Given the description of an element on the screen output the (x, y) to click on. 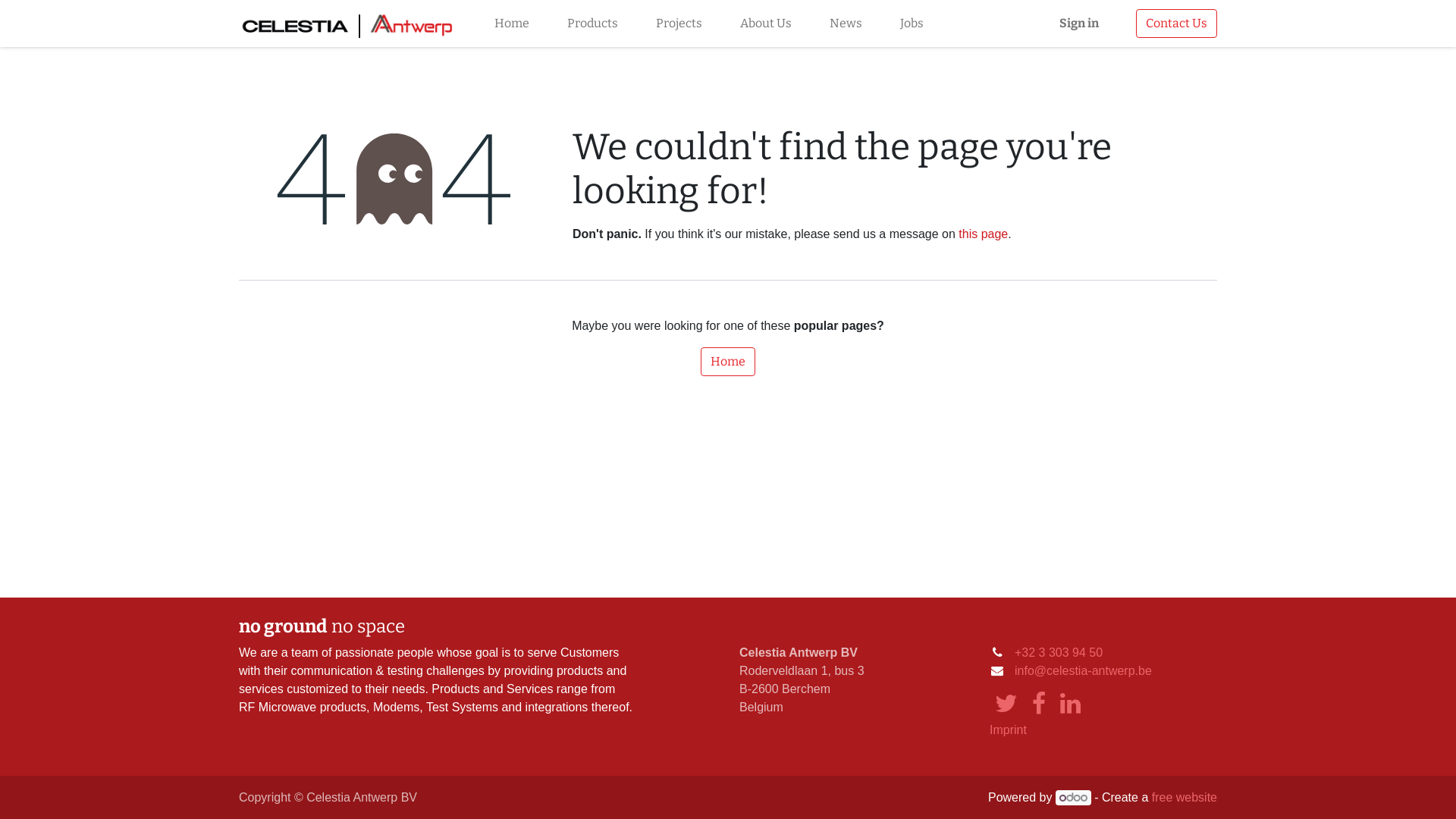
Celestia Antwerp Element type: hover (347, 23)
Sign in Element type: text (1078, 23)
Projects Element type: text (679, 23)
About Us Element type: text (765, 23)
Home Element type: text (727, 361)
Home Element type: text (511, 23)
Imprint Element type: text (1007, 729)
+32 3 303 94 50 Element type: text (1058, 652)
Products Element type: text (592, 23)
info@celestia-antwerp.be Element type: text (1082, 670)
Jobs Element type: text (911, 23)
News Element type: text (845, 23)
Contact Us Element type: text (1176, 23)
free website Element type: text (1184, 796)
this page Element type: text (982, 233)
